Given the description of an element on the screen output the (x, y) to click on. 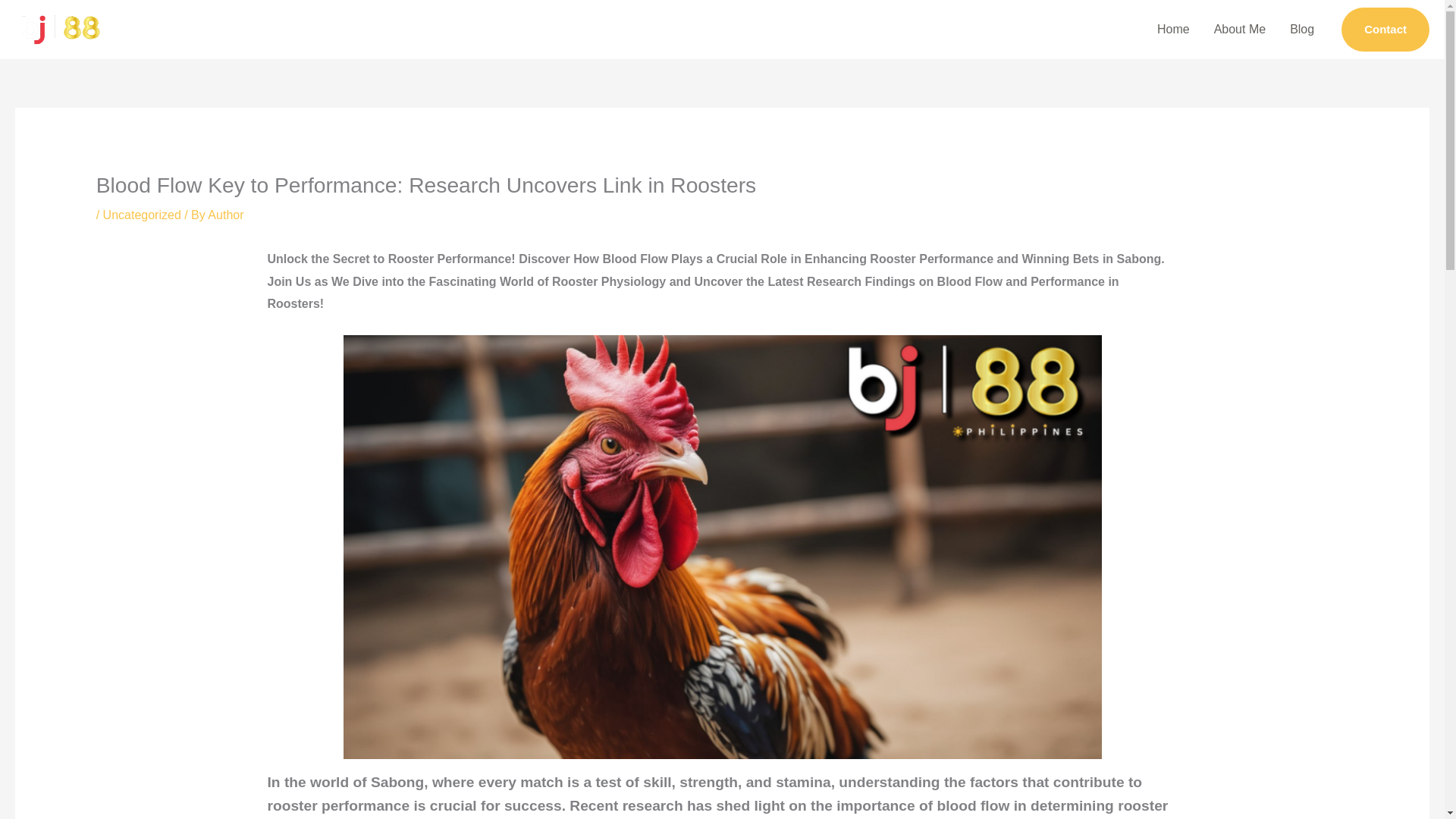
About Me (1240, 29)
Author (225, 214)
Blog (1302, 29)
Home (1173, 29)
Contact (1384, 29)
View all posts by Author (225, 214)
Uncategorized (141, 214)
